Given the description of an element on the screen output the (x, y) to click on. 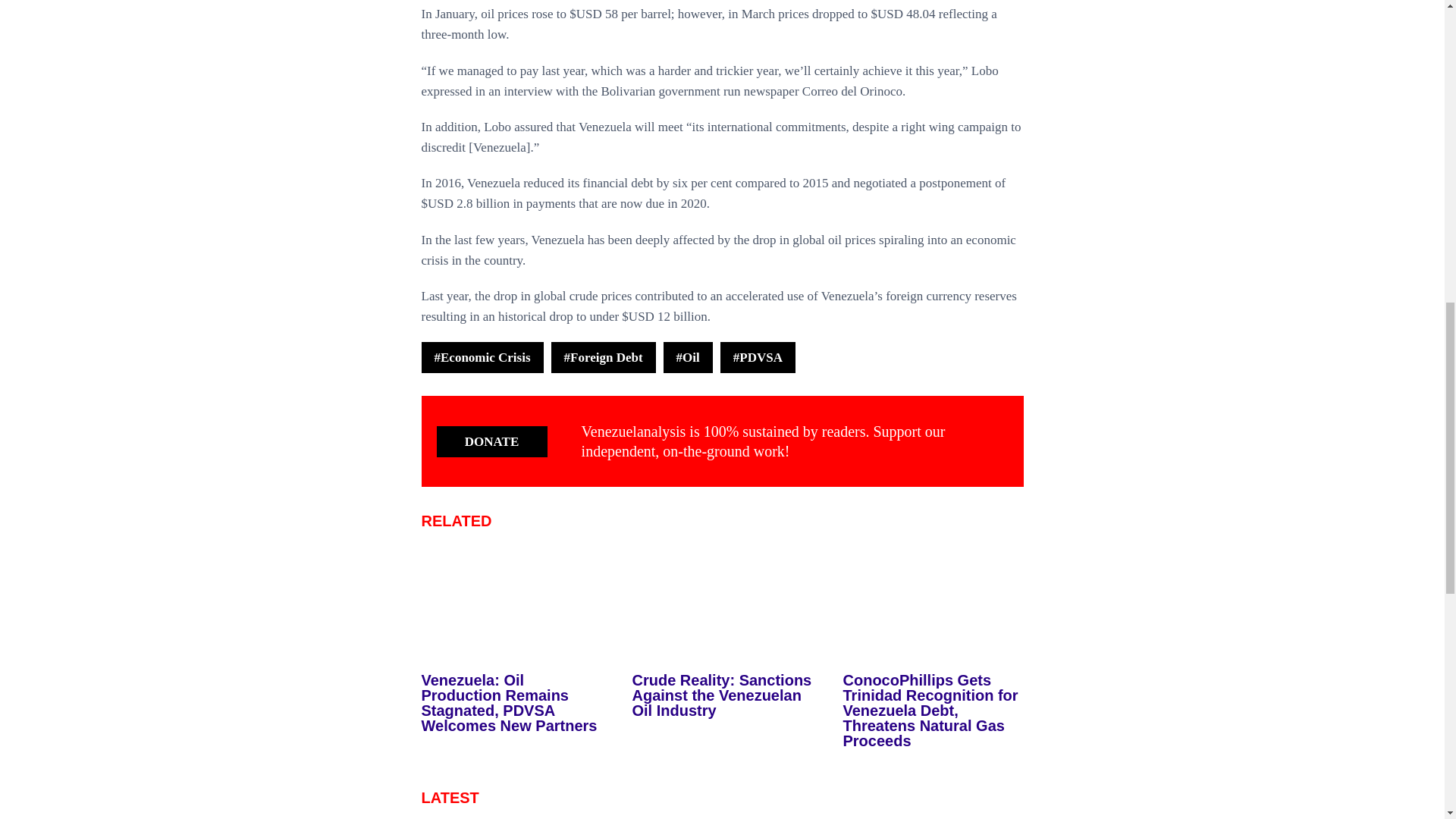
DONATE (491, 441)
Crude Reality: Sanctions Against the Venezuelan Oil Industry (721, 609)
Economic Crisis (482, 357)
Crude Reality: Sanctions Against the Venezuelan Oil Industry (721, 695)
Foreign Debt (603, 357)
Crude Reality: Sanctions Against the Venezuelan Oil Industry (721, 695)
PDVSA (757, 357)
Oil (688, 357)
